Given the description of an element on the screen output the (x, y) to click on. 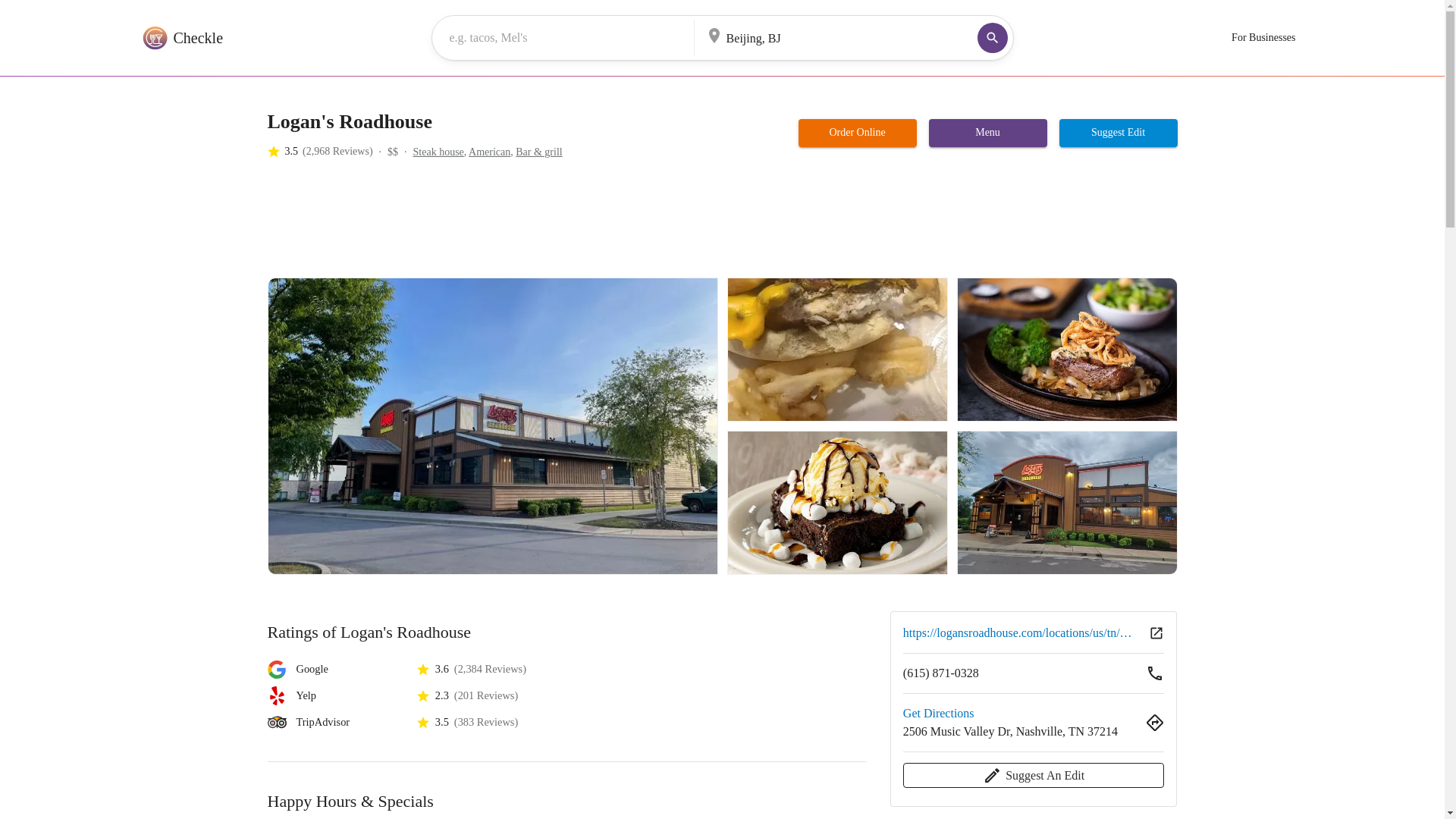
American (489, 151)
For Businesses (1263, 38)
Checkle (180, 37)
Steak house (438, 151)
Suggest Edit (1118, 132)
Menu (987, 131)
Order Online (857, 132)
Beijing, BJ (819, 37)
Menu (987, 132)
Suggest An Edit (1033, 774)
